Given the description of an element on the screen output the (x, y) to click on. 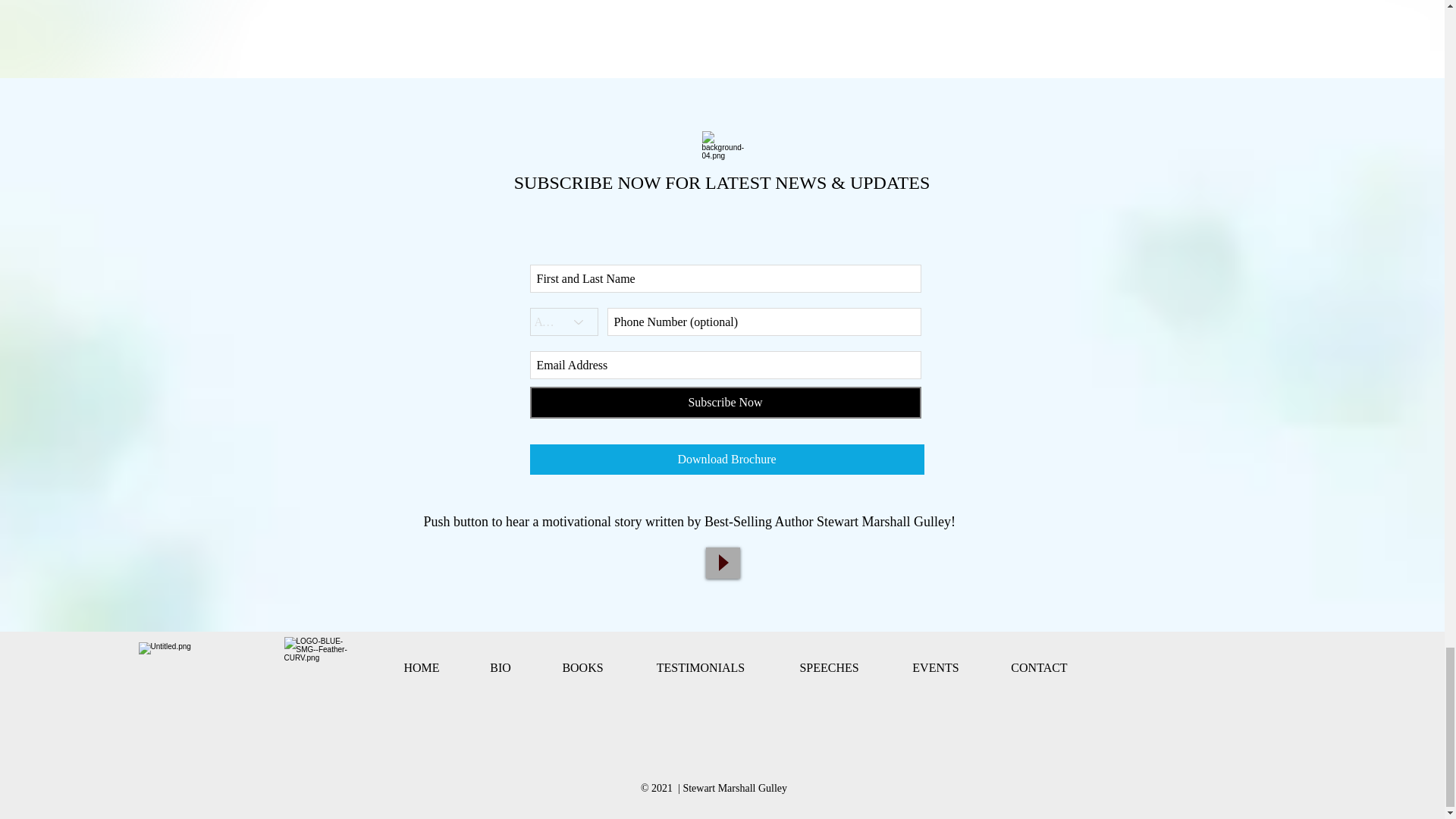
Download Brochure (726, 459)
Subscribe Now (724, 402)
